Given the description of an element on the screen output the (x, y) to click on. 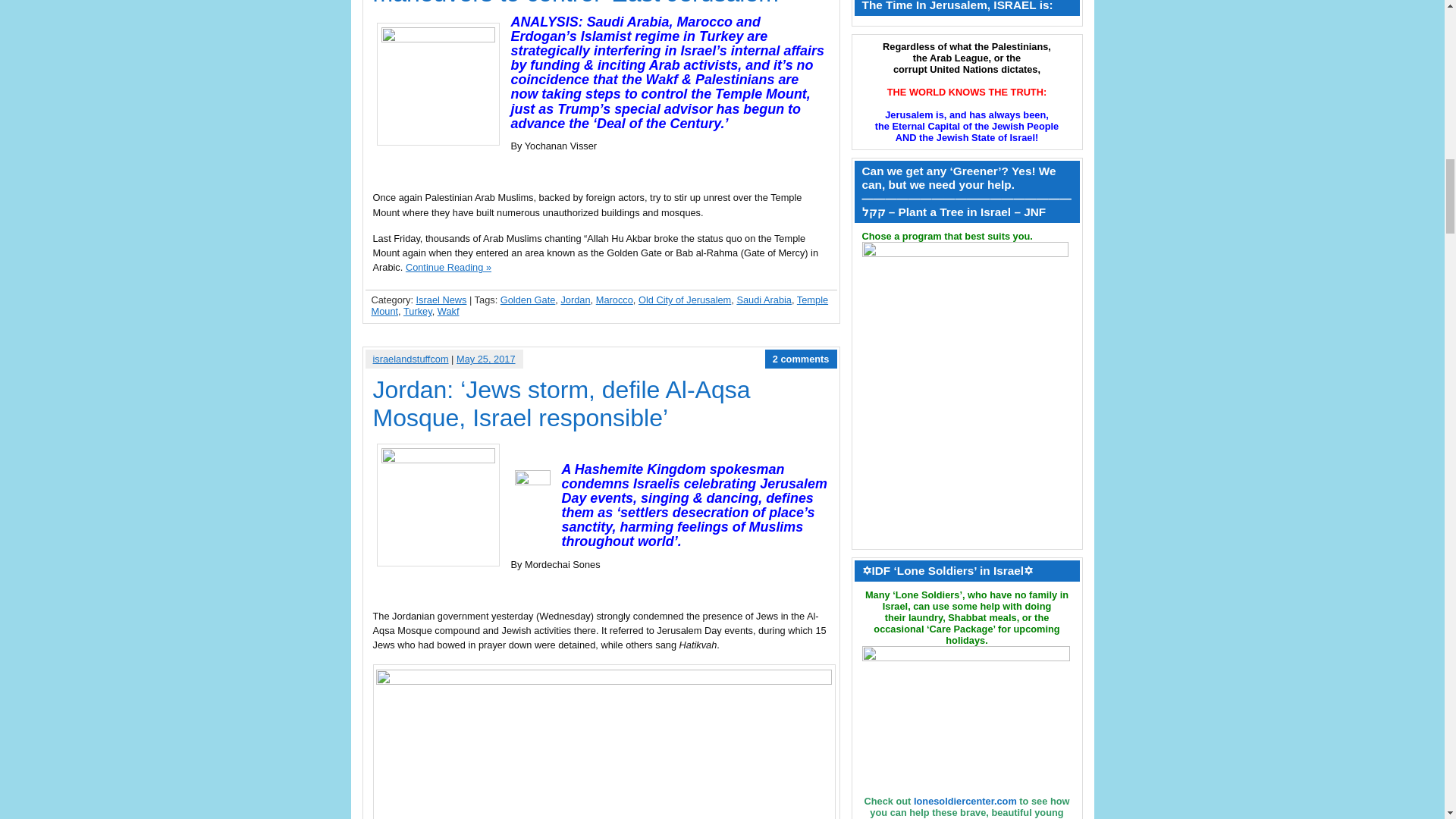
Posts by israelandstuffcom (410, 358)
